Given the description of an element on the screen output the (x, y) to click on. 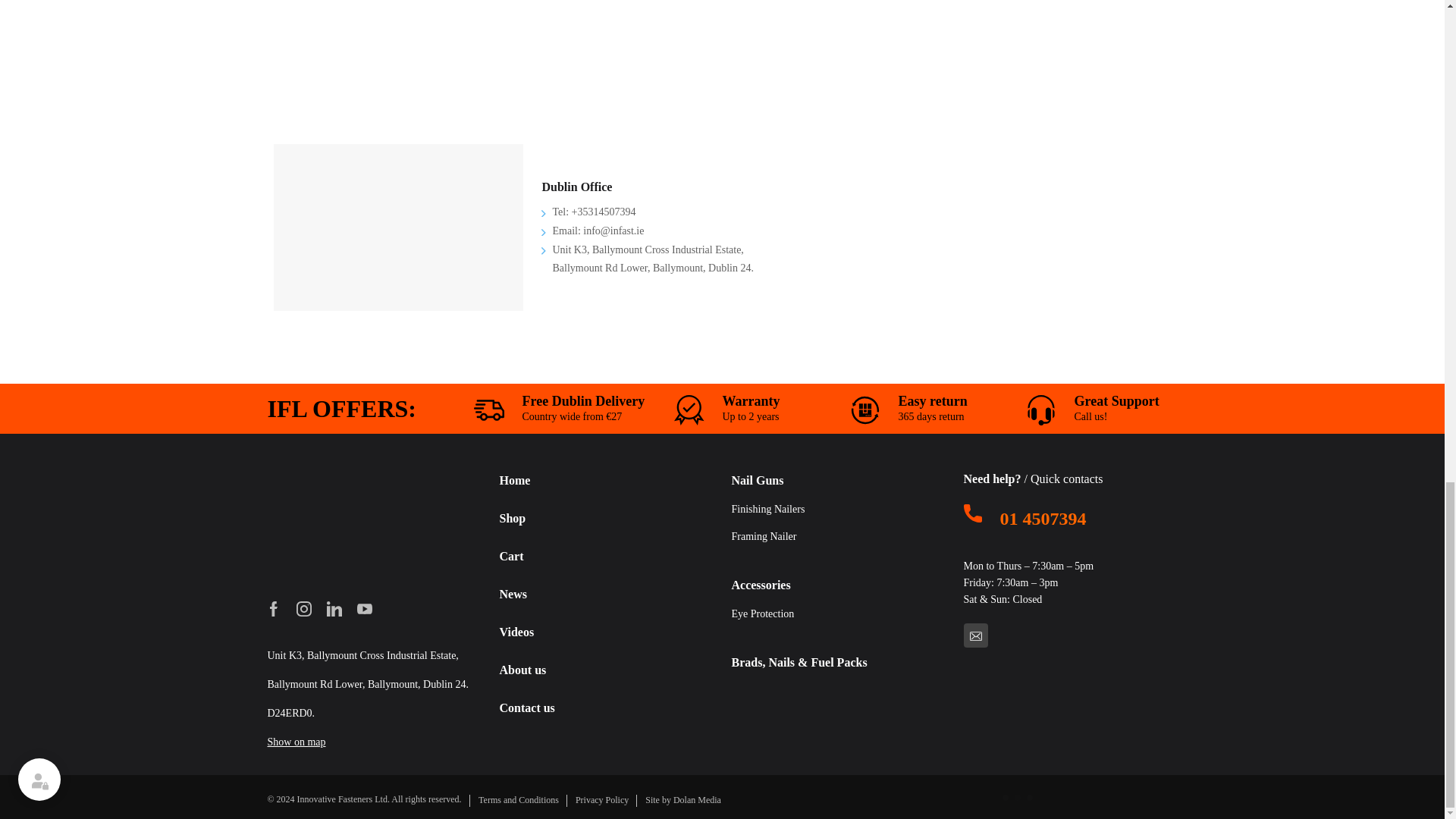
facebook (272, 607)
youtube (363, 607)
email (974, 635)
linkedin (333, 607)
instagram (303, 607)
